Given the description of an element on the screen output the (x, y) to click on. 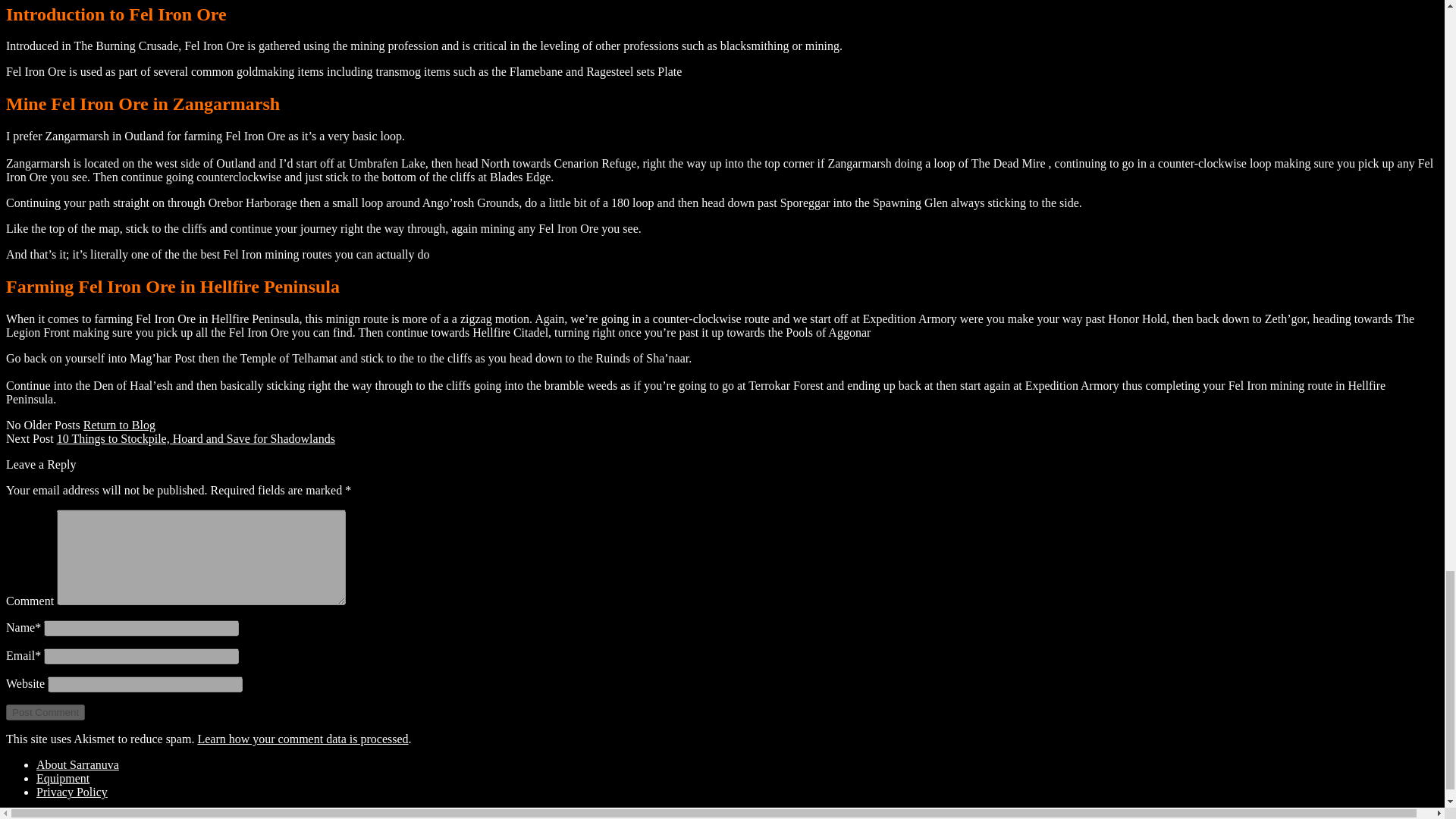
About Sarranuva (77, 764)
Post Comment (44, 712)
10 Things to Stockpile, Hoard and Save for Shadowlands (195, 438)
Learn how your comment data is processed (301, 738)
Equipment (62, 778)
Privacy Policy (71, 791)
Post Comment (44, 712)
Return to Blog (118, 424)
